Given the description of an element on the screen output the (x, y) to click on. 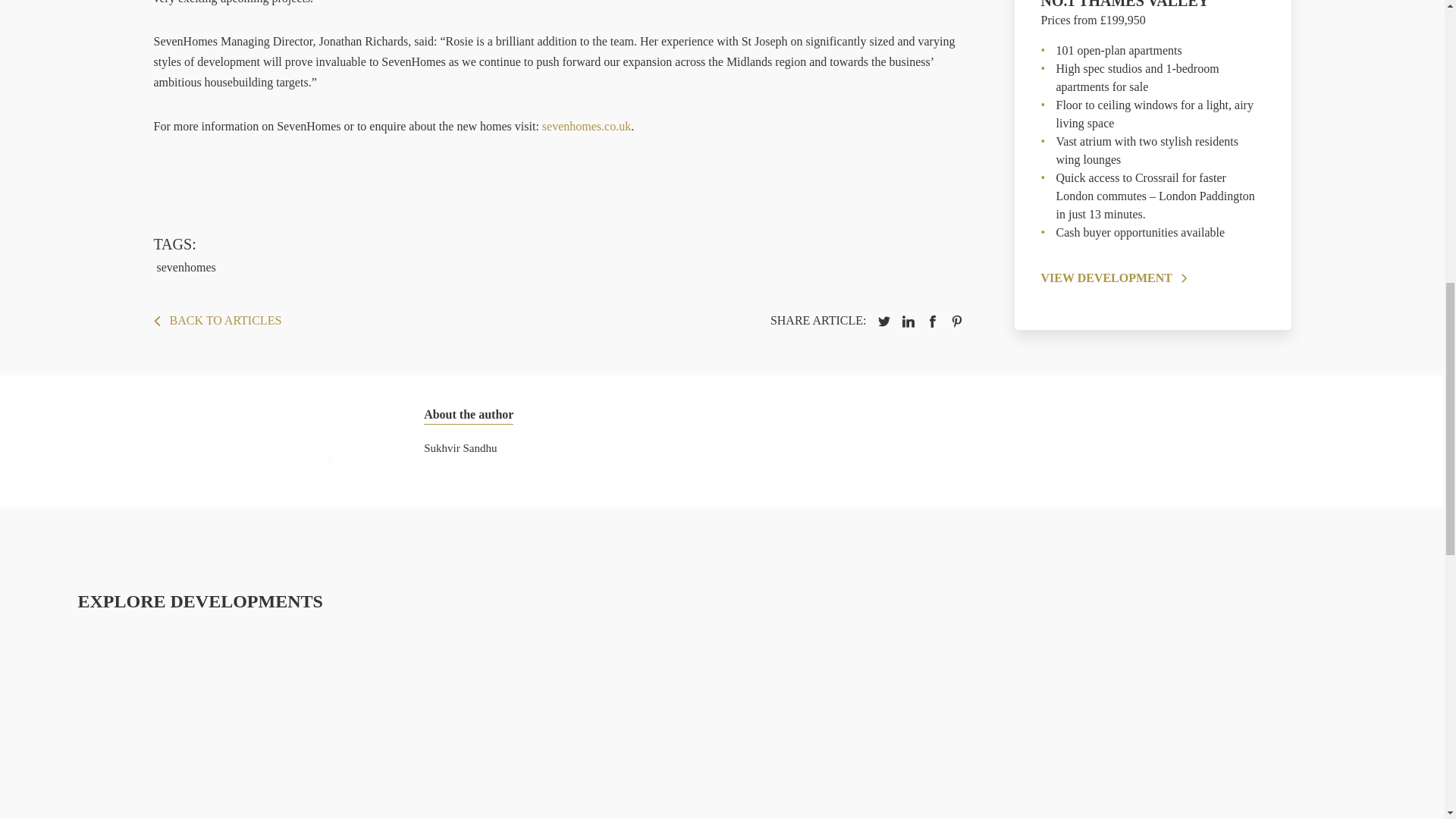
BACK ARROW (156, 320)
